Given the description of an element on the screen output the (x, y) to click on. 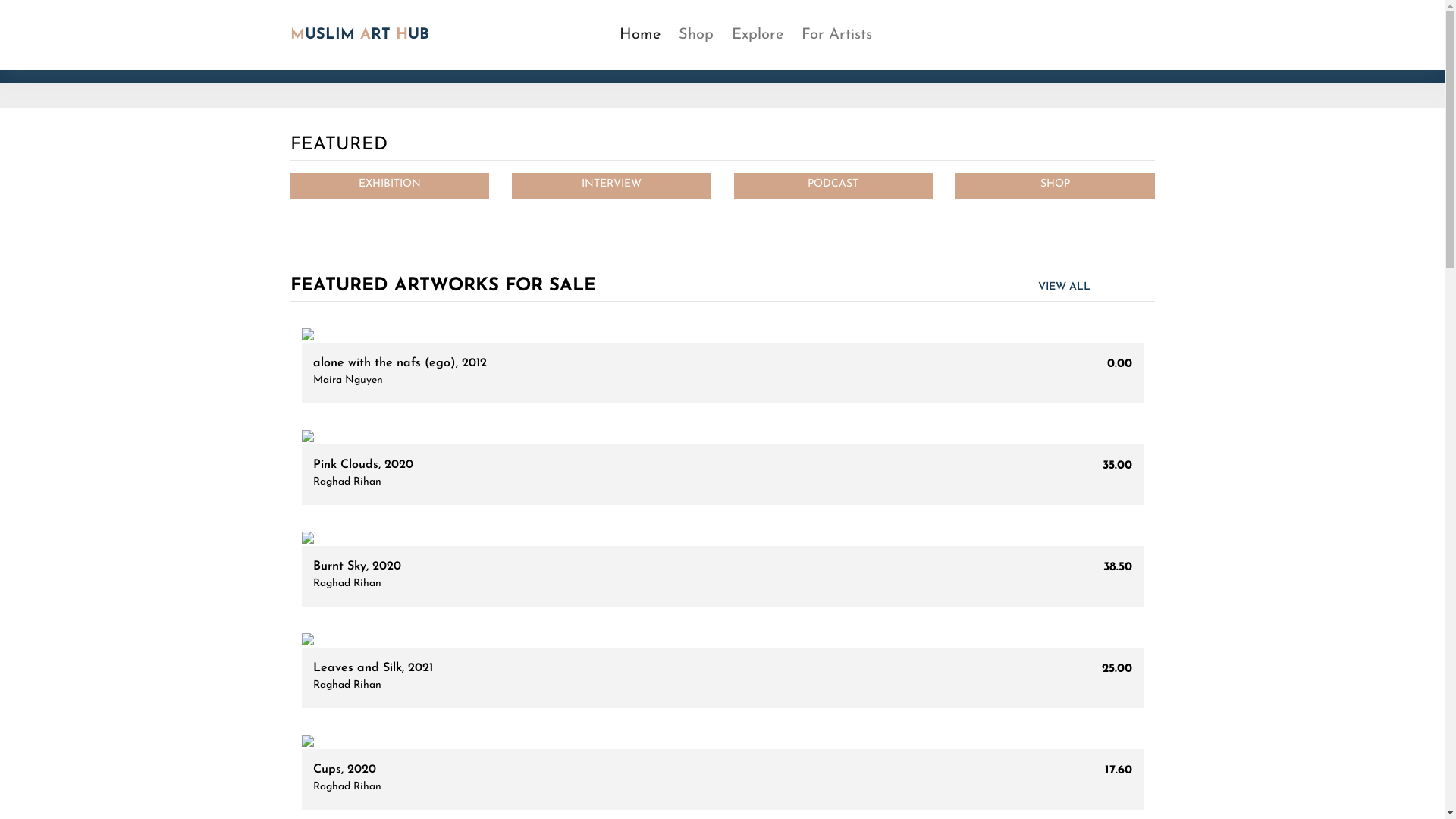
PODCAST Element type: text (832, 183)
Burnt Sky, 2020 Element type: text (356, 566)
SHOP Element type: text (1055, 183)
INTERVIEW Element type: text (611, 183)
For Artists Element type: text (835, 34)
Leaves and Silk, 2021 Element type: text (372, 668)
alone with the nafs (ego), 2012 Element type: text (399, 363)
Shop Element type: text (694, 34)
Explore Element type: text (756, 34)
Pink Clouds, 2020 Element type: text (362, 464)
EXHIBITION Element type: text (389, 183)
VIEW ALL Element type: text (1063, 286)
MUSLIM ART HUB Element type: text (358, 34)
Home Element type: text (638, 34)
Cups, 2020 Element type: text (343, 769)
